Given the description of an element on the screen output the (x, y) to click on. 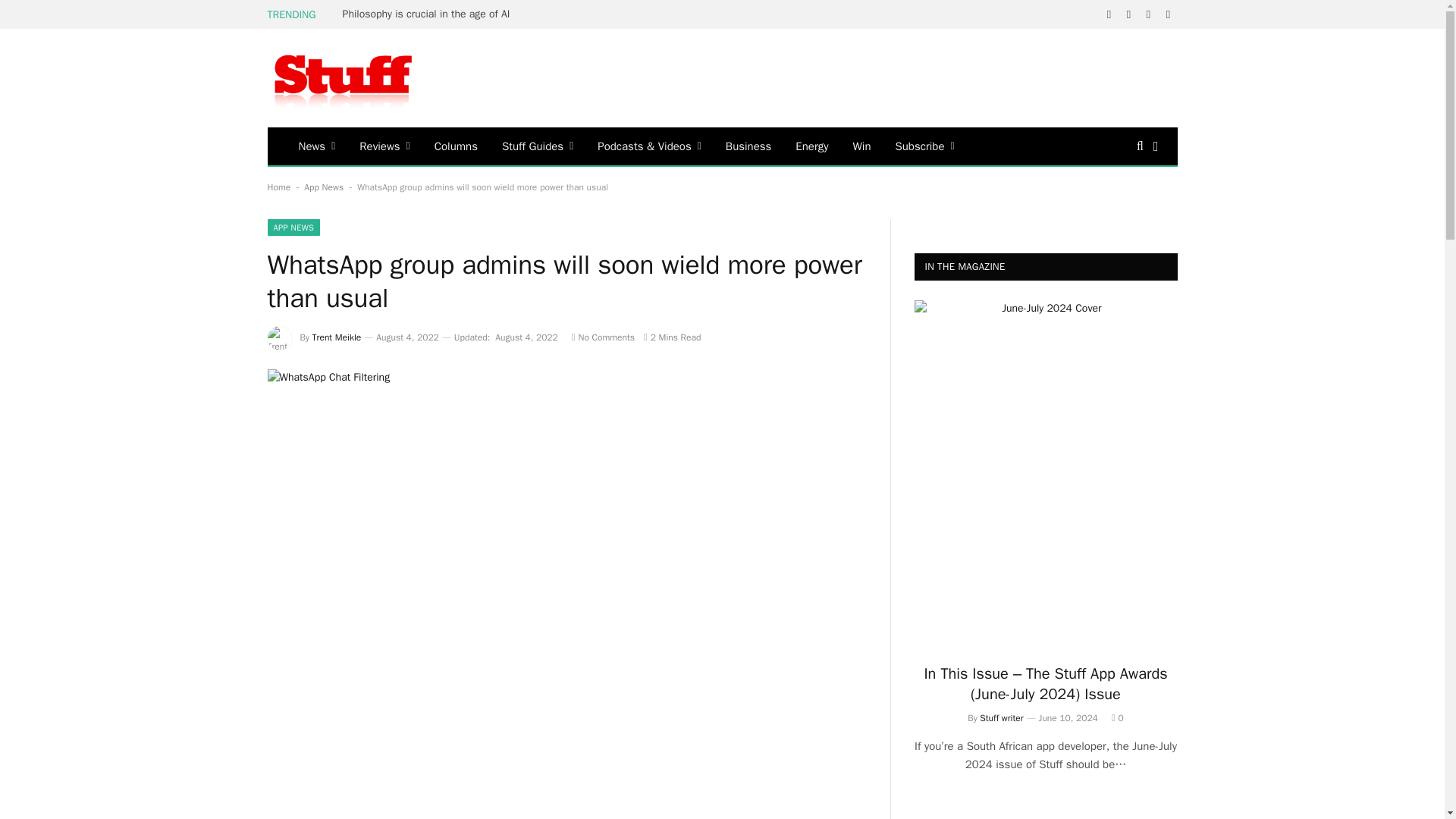
News (316, 146)
Posts by Trent Meikle (337, 337)
Reviews (384, 146)
Stuff South Africa (342, 78)
Philosophy is crucial in the age of AI (430, 14)
